Given the description of an element on the screen output the (x, y) to click on. 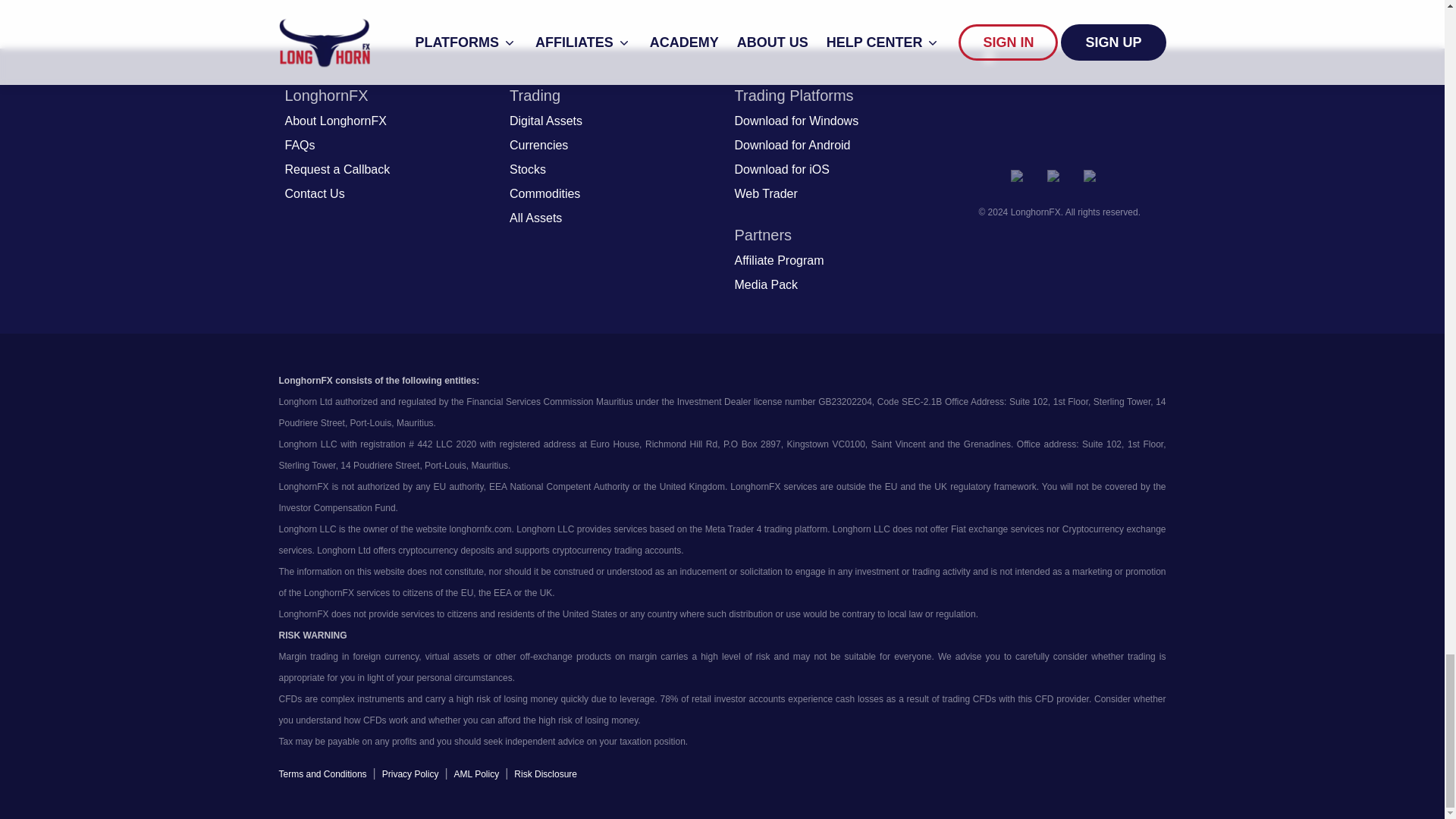
Download for Windows (796, 121)
Terms and Conditions (322, 774)
Download for iOS (780, 169)
Media Pack (765, 285)
About LonghornFX (336, 121)
Affiliate Program (778, 260)
All Assets (535, 218)
Digital Assets (545, 121)
Commodities (544, 194)
Risk Disclosure (544, 774)
